Given the description of an element on the screen output the (x, y) to click on. 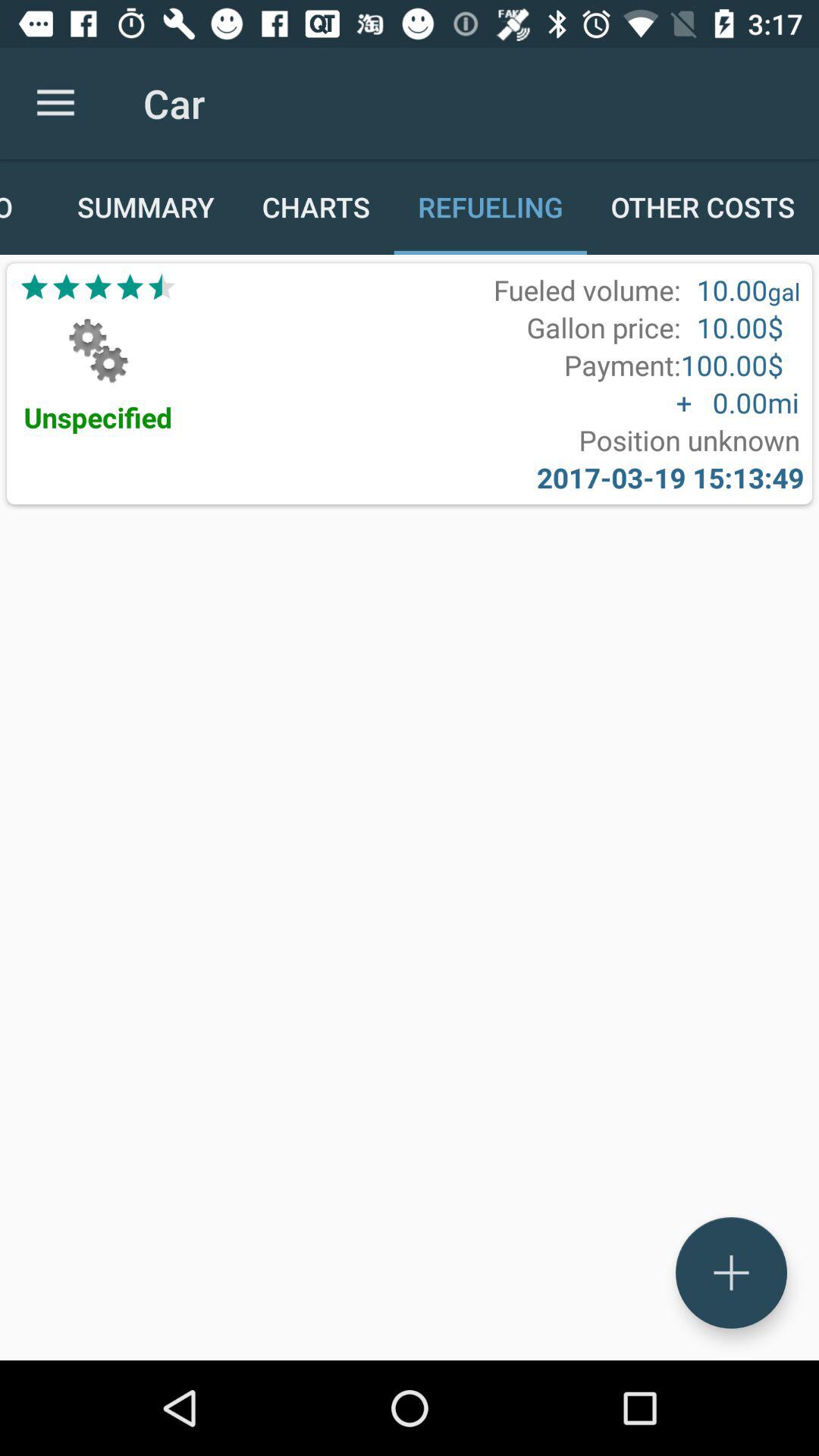
open menu (731, 1272)
